Given the description of an element on the screen output the (x, y) to click on. 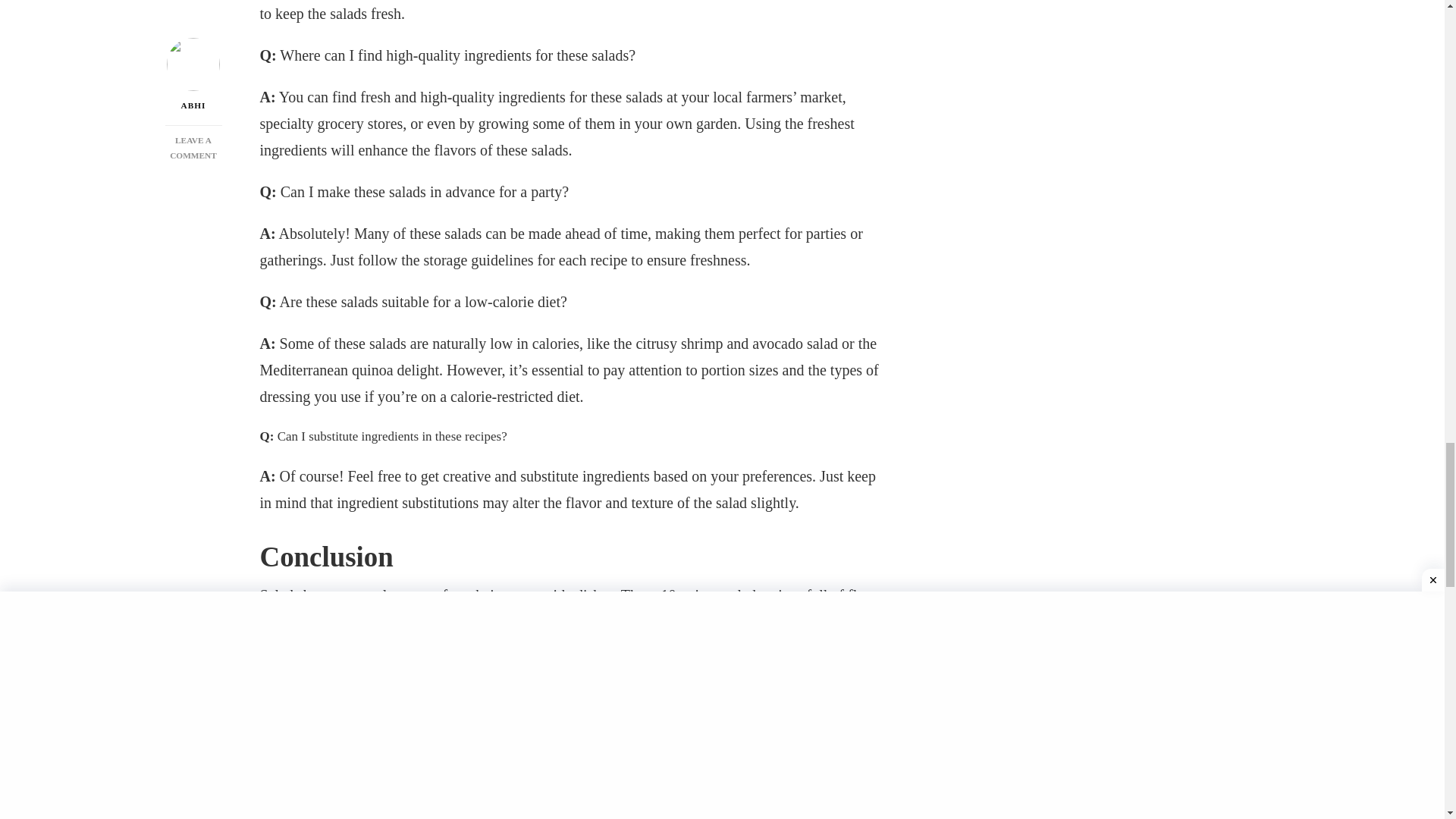
Greens and Goodness: Iconic American Salads (448, 812)
Exploring Flavor: Uncovering the Best Salad Combinations (576, 812)
A Taste of America: Famous Salad Selections (319, 812)
Exploring Flavor: Uncovering the Best Salad Combinations (576, 812)
A Taste of America: Famous Salad Selections (319, 812)
10 Most Popular Eastern European Soups (528, 746)
Greens and Goodness: Iconic American Salads (448, 812)
Most Popular Salads in Restaurants in the USA (705, 812)
Most Popular Salads in Restaurants in the USA (705, 812)
